Given the description of an element on the screen output the (x, y) to click on. 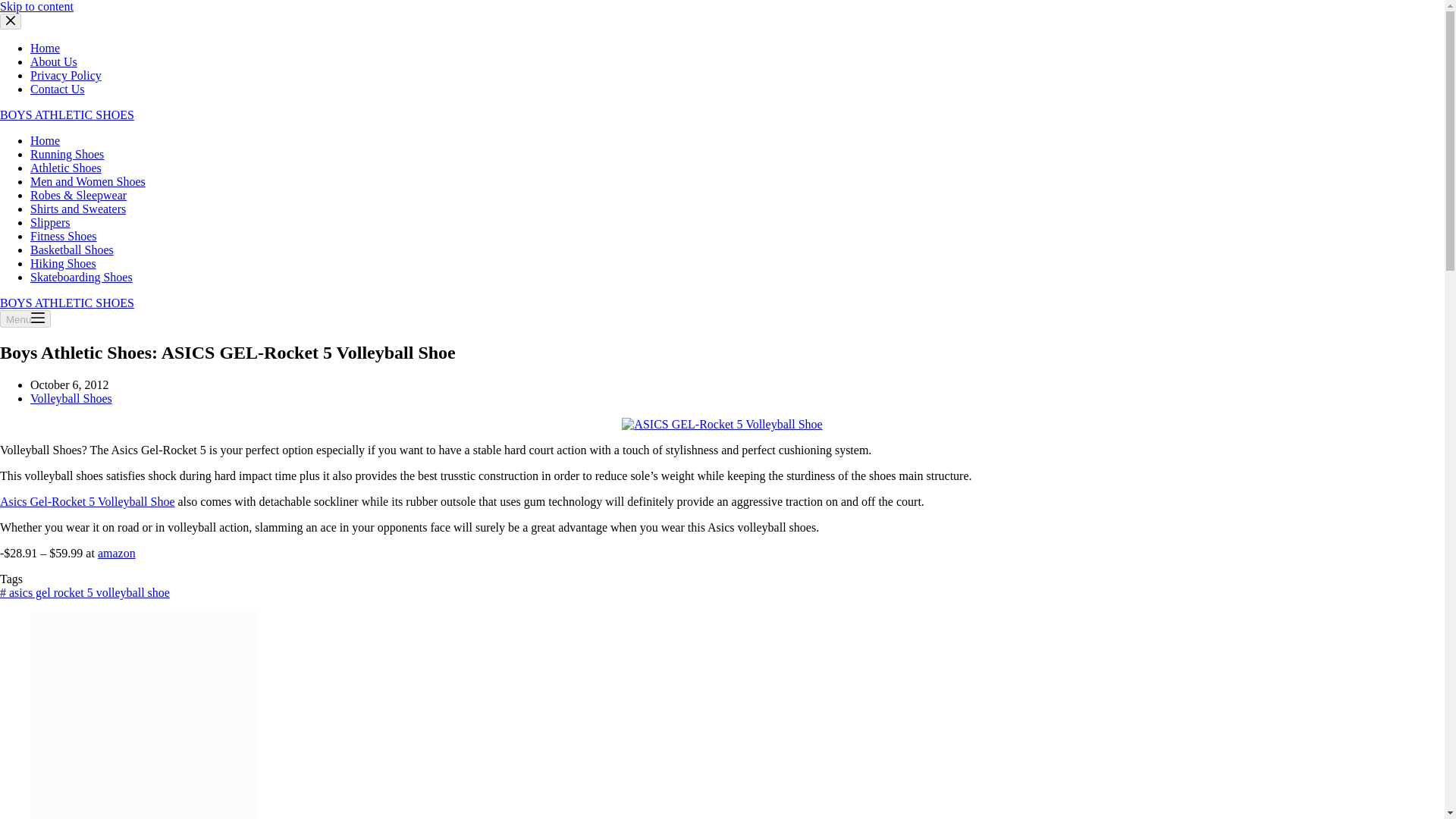
Contact Us (57, 88)
Asics Gel-Rocket 5 Volleyball Shoe (87, 501)
Hiking Shoes (63, 263)
Running Shoes (66, 154)
Volleyball Shoes (71, 398)
Basketball Shoes (71, 249)
Skateboarding Shoes (81, 277)
Skateboarding Shoes (81, 277)
Men and Women Shoes (87, 181)
Shirts and Sweaters (77, 208)
Running Shoes (66, 154)
Skip to content (37, 6)
Men and Women Shoes (87, 181)
About Boys Athletic Shoes (53, 61)
Fitness Shoes (63, 236)
